Given the description of an element on the screen output the (x, y) to click on. 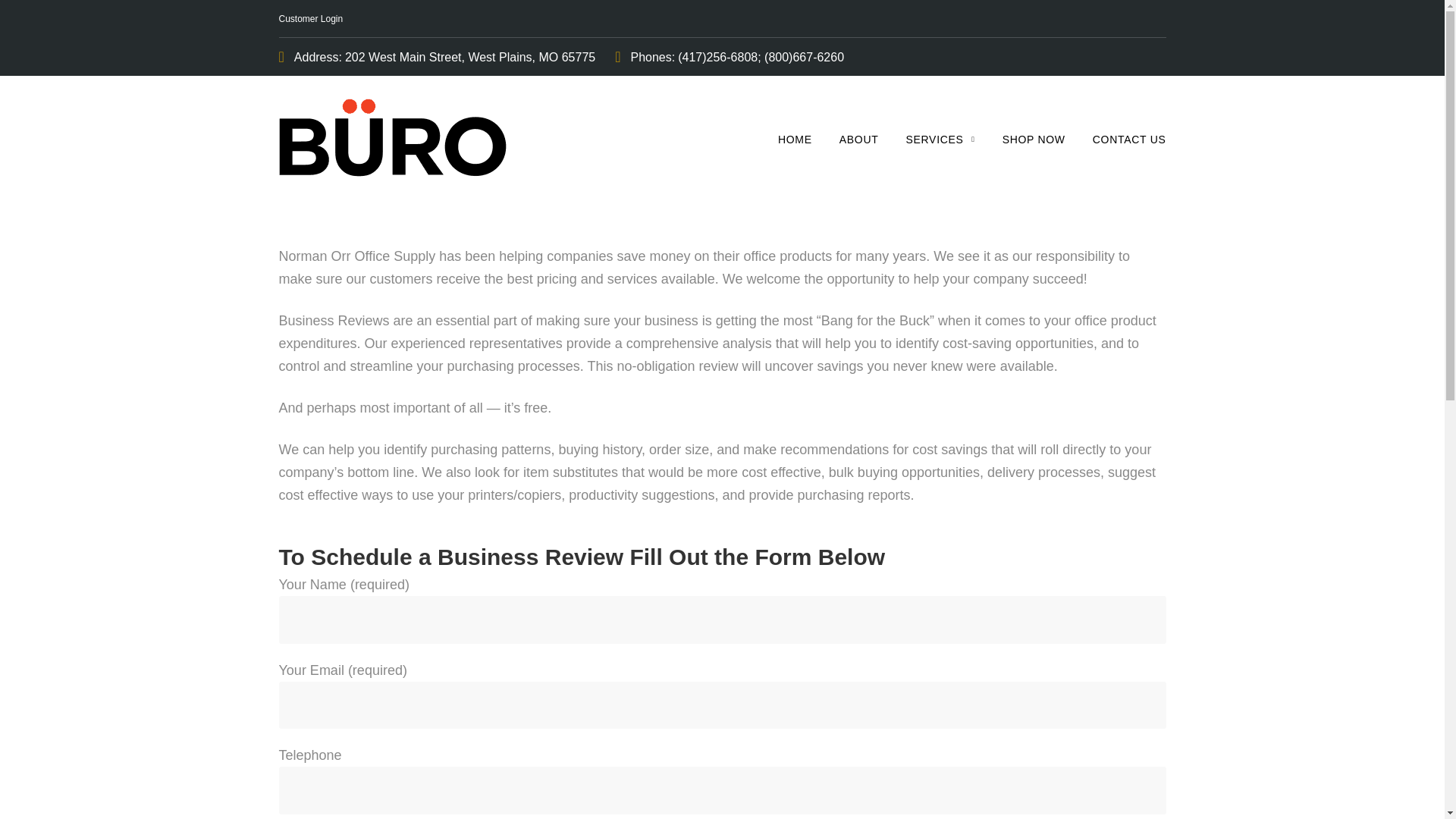
CONTACT US (1129, 139)
SERVICES (939, 139)
HOME (794, 139)
ABOUT (859, 139)
SHOP NOW (1034, 139)
Customer Login (311, 18)
